Given the description of an element on the screen output the (x, y) to click on. 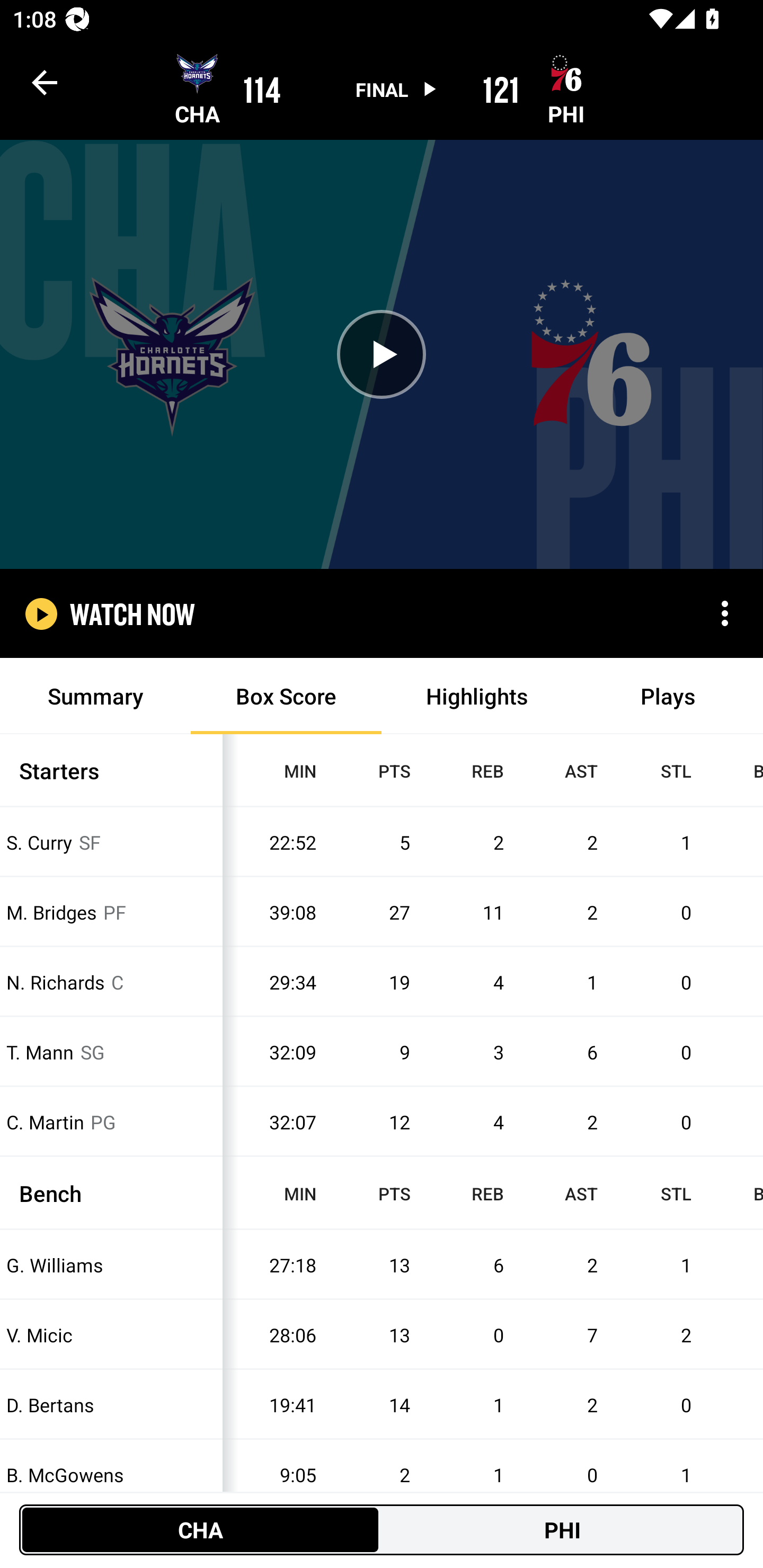
Navigate up (44, 82)
More options (724, 613)
WATCH NOW (132, 613)
Summary (95, 695)
Highlights (476, 695)
Plays (667, 695)
S. Curry SF (111, 841)
M. Bridges PF (111, 911)
N. Richards C (111, 982)
T. Mann SG (111, 1051)
C. Martin PG (111, 1121)
G. Williams (111, 1264)
V. Micic (111, 1334)
D. Bertans (111, 1404)
B. McGowens (111, 1474)
PHI (562, 1529)
